Given the description of an element on the screen output the (x, y) to click on. 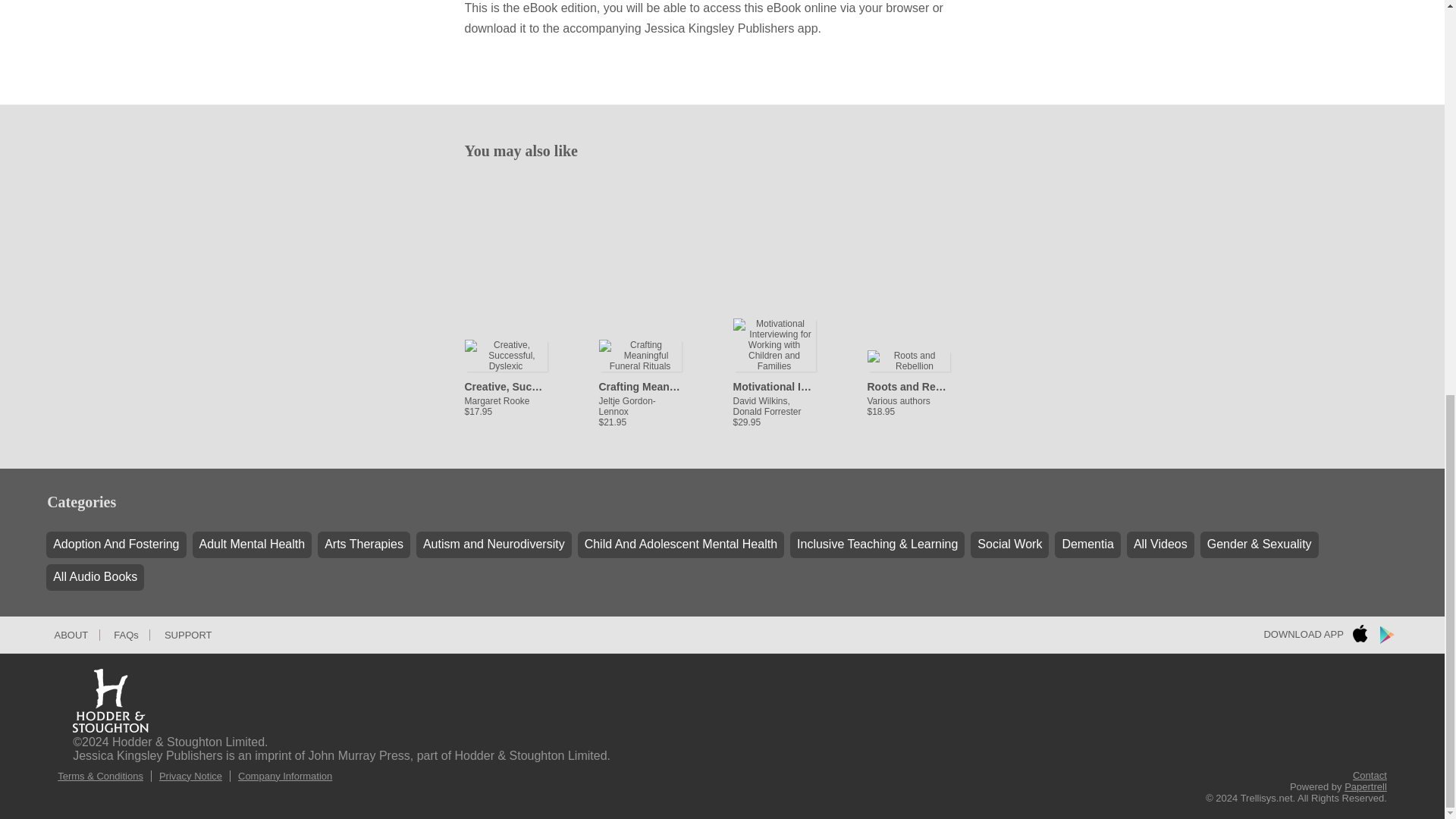
Crafting Meaningful Funeral Rituals (639, 385)
Autism and Neurodiversity (494, 544)
Adult Mental Health (252, 544)
Child And Adolescent Mental Health (681, 544)
Social Work (1009, 544)
Various authors (908, 388)
All Audio Books (95, 577)
Creative, Successful, Dyslexic (505, 385)
Jeltje Gordon-Lennox (639, 393)
All Videos (1159, 544)
ABOUT (71, 634)
Margaret Rooke (505, 388)
Dementia (1086, 544)
FAQs (126, 634)
